Given the description of an element on the screen output the (x, y) to click on. 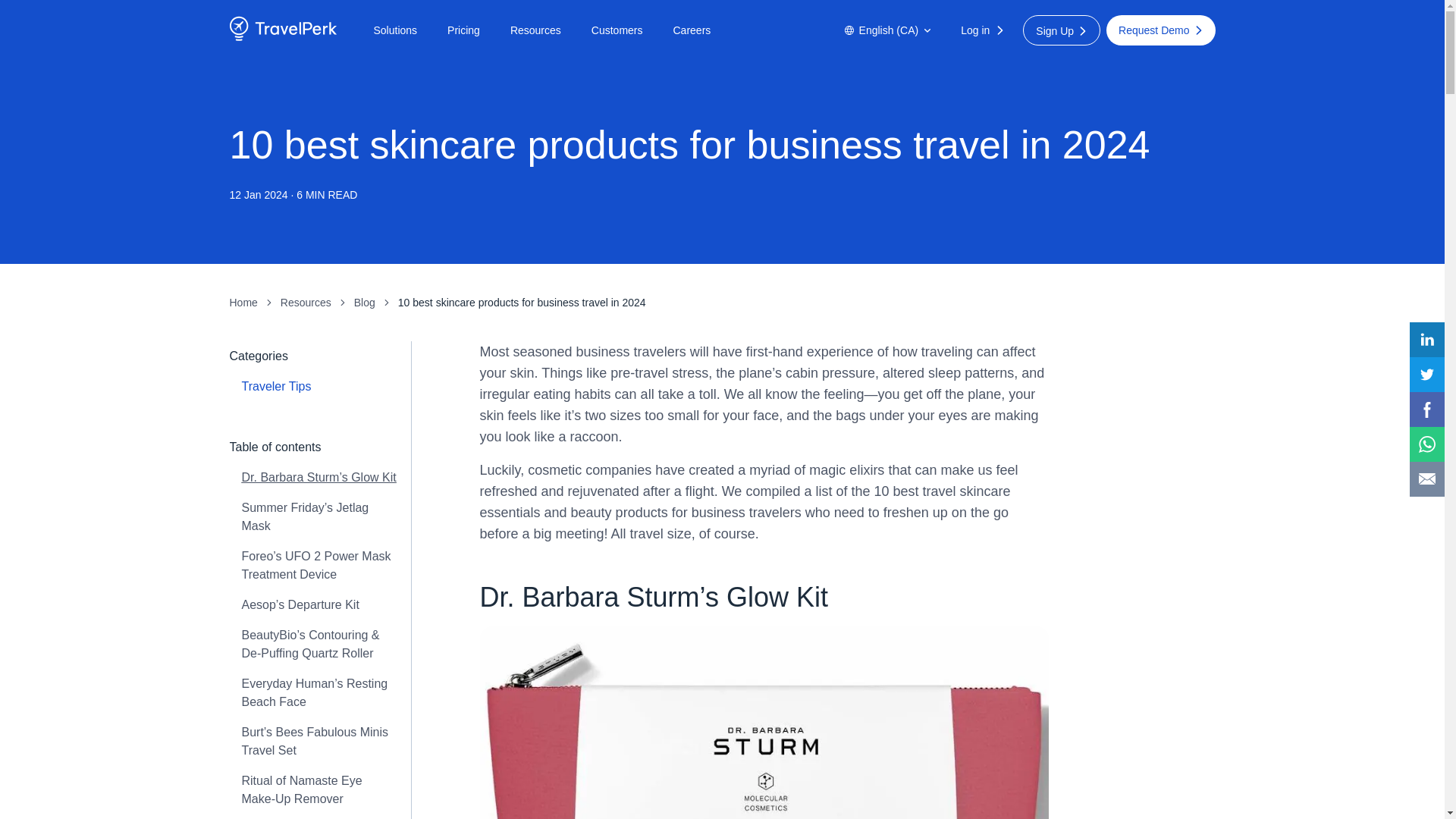
TravelPerk Logo (282, 38)
Careers (691, 30)
Log in (983, 30)
Customers (617, 30)
Request Demo (1160, 30)
Pricing (463, 30)
Resources (535, 30)
Solutions (394, 30)
TravelPerk Logo (282, 28)
Sign Up (1061, 30)
